Given the description of an element on the screen output the (x, y) to click on. 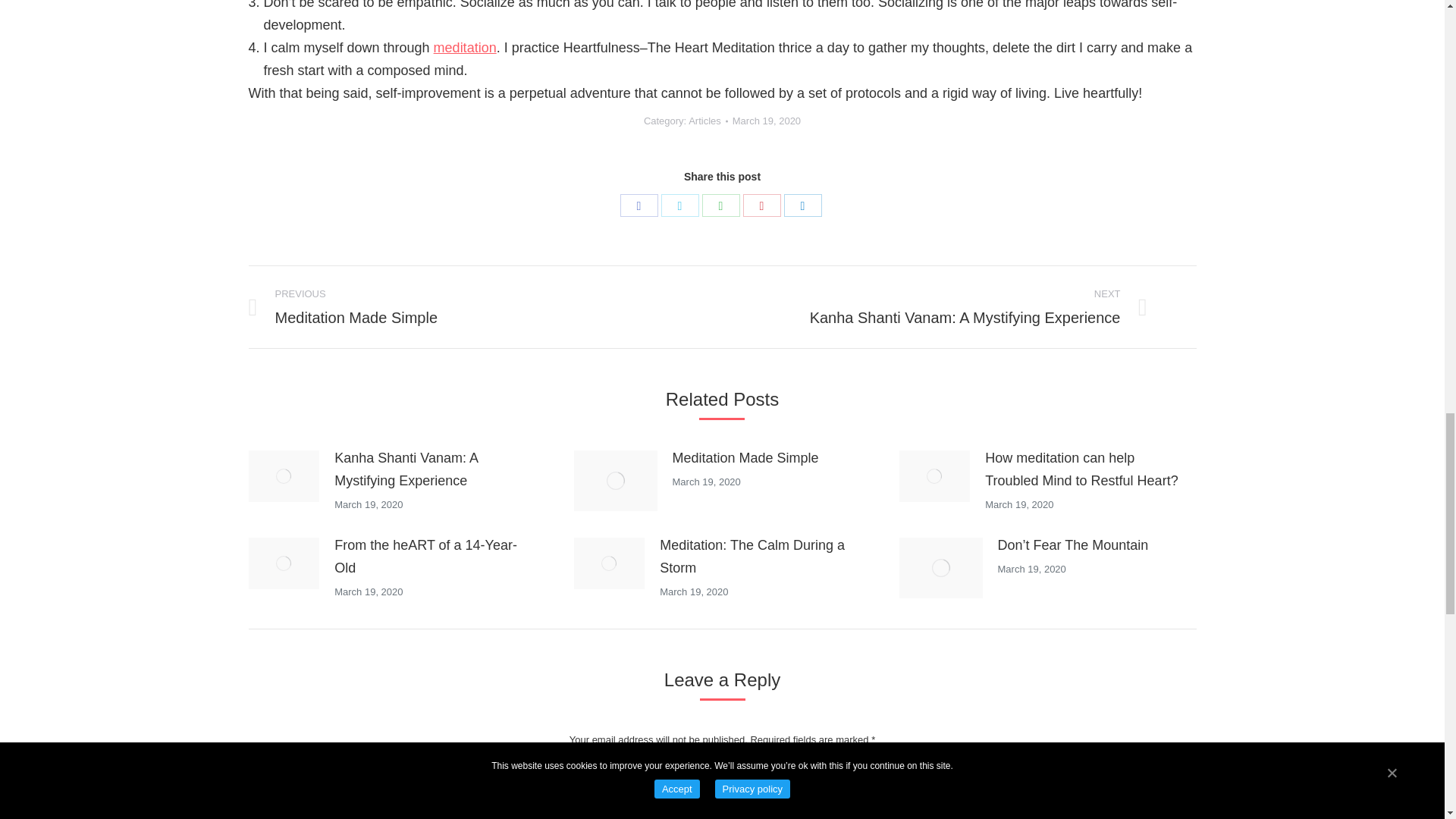
Facebook (639, 205)
LinkedIn (803, 205)
Twitter (679, 205)
2:56 pm (766, 120)
Pinterest (761, 205)
WhatsApp (720, 205)
